Given the description of an element on the screen output the (x, y) to click on. 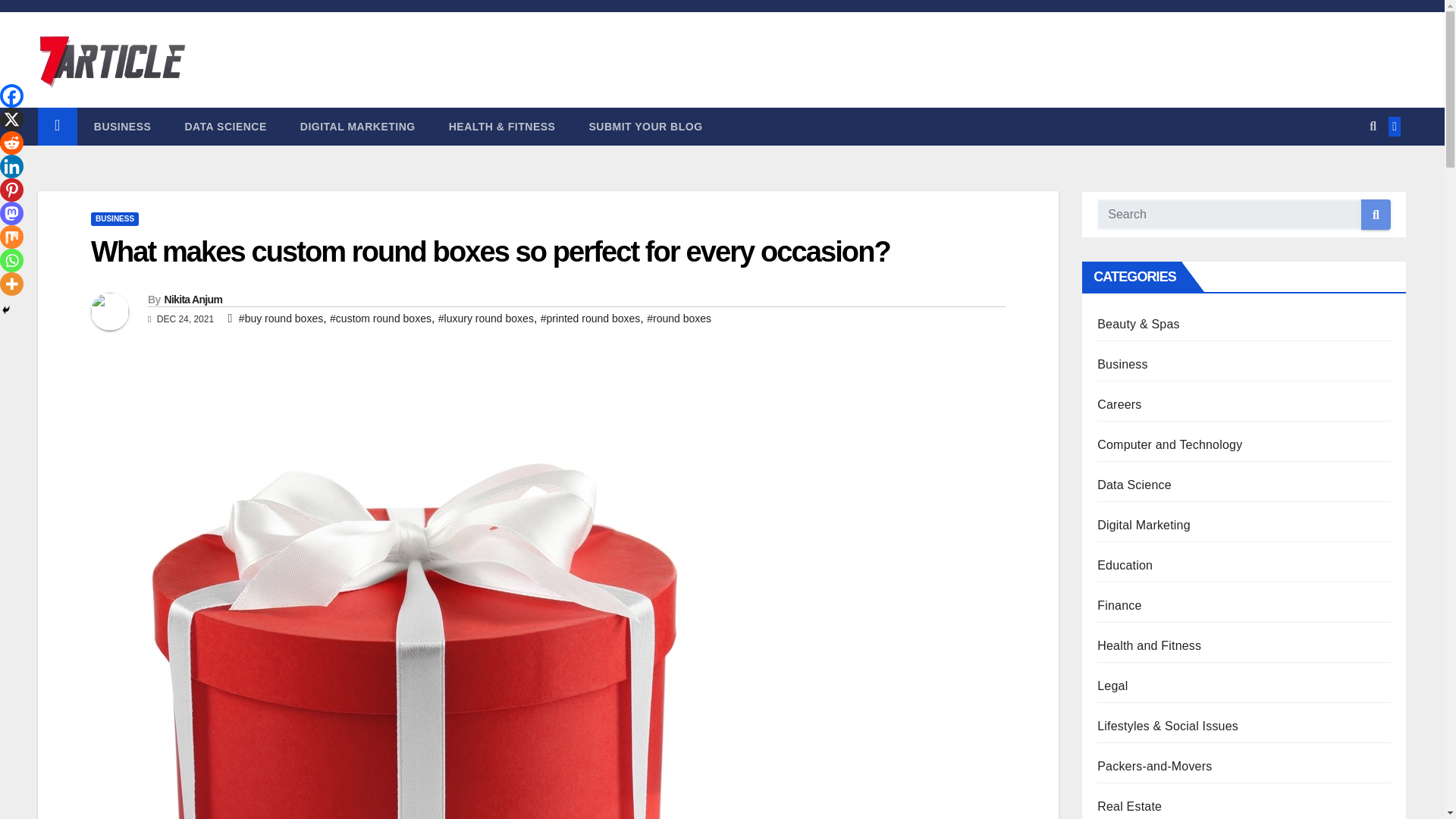
Business (122, 126)
Digital Marketing (357, 126)
SUBMIT YOUR BLOG (645, 126)
What makes custom round boxes so perfect for every occasion? (489, 251)
BUSINESS (122, 126)
BUSINESS (114, 219)
Data Science (224, 126)
Nikita Anjum (192, 299)
DATA SCIENCE (224, 126)
Submit Your Blog (645, 126)
DIGITAL MARKETING (357, 126)
